Given the description of an element on the screen output the (x, y) to click on. 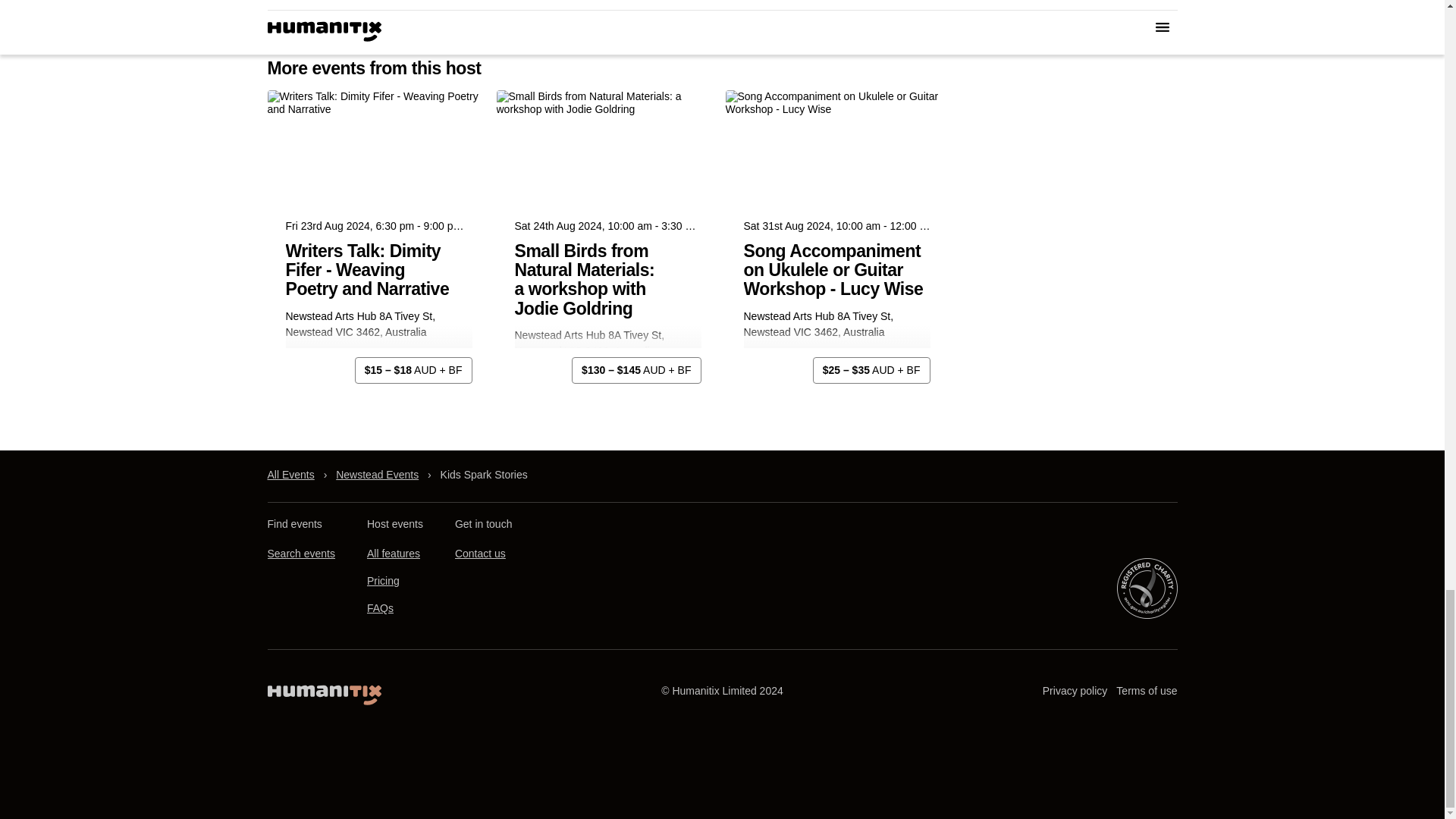
Newstead Events (377, 474)
All Events (290, 474)
Kids Spark Stories (484, 474)
